Given the description of an element on the screen output the (x, y) to click on. 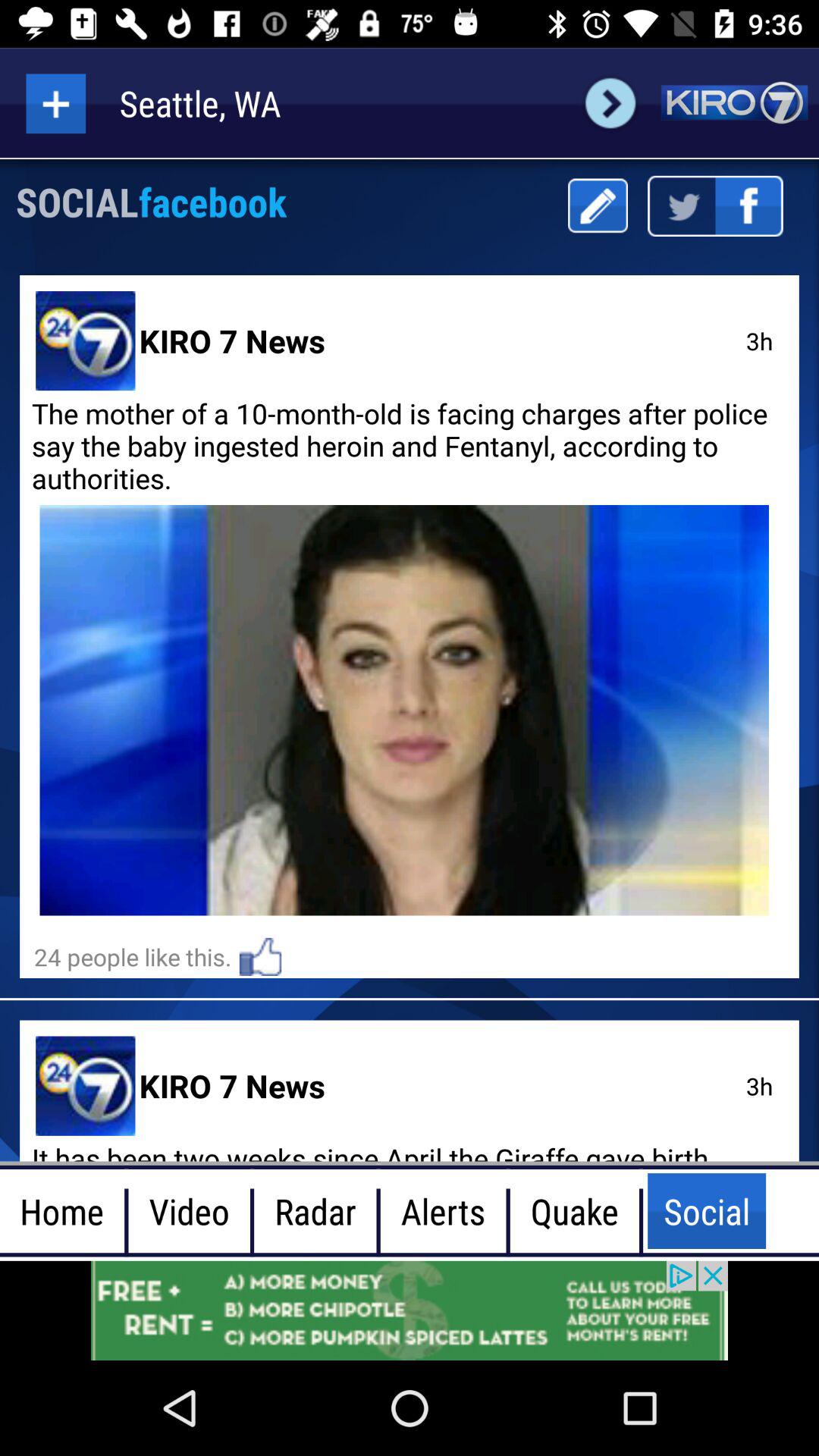
go to next (610, 103)
